Given the description of an element on the screen output the (x, y) to click on. 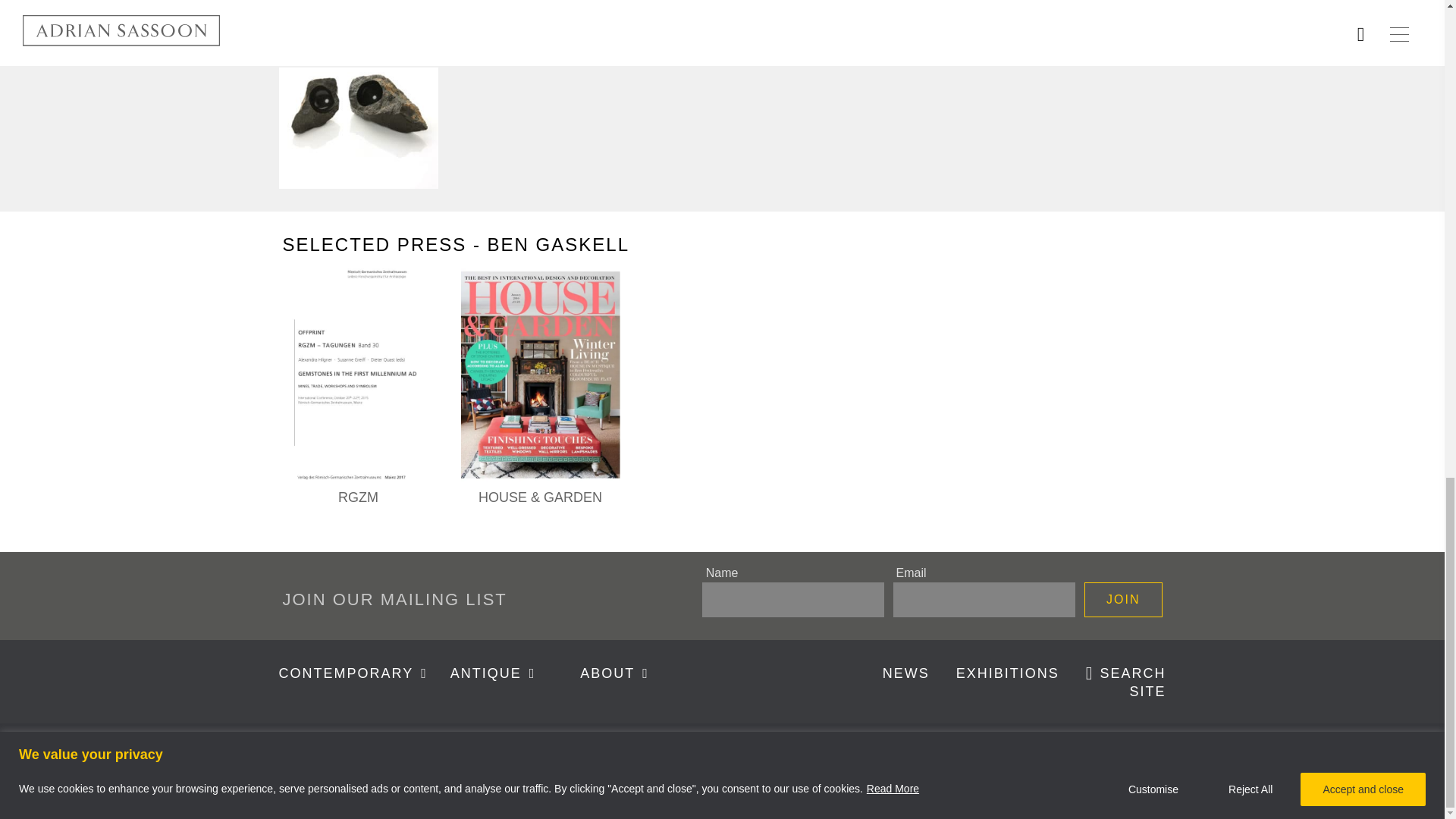
The Sphere, 2018 (358, 109)
Kaleidoscope, 2017 (358, 3)
Offset Breakbox, 2016 (722, 3)
Ripple Mirror Egg, 2017 (1086, 3)
Join (1122, 599)
Cryptic Box II, 2015 (540, 3)
Cryptic Box VI, 2016 (904, 3)
